Given the description of an element on the screen output the (x, y) to click on. 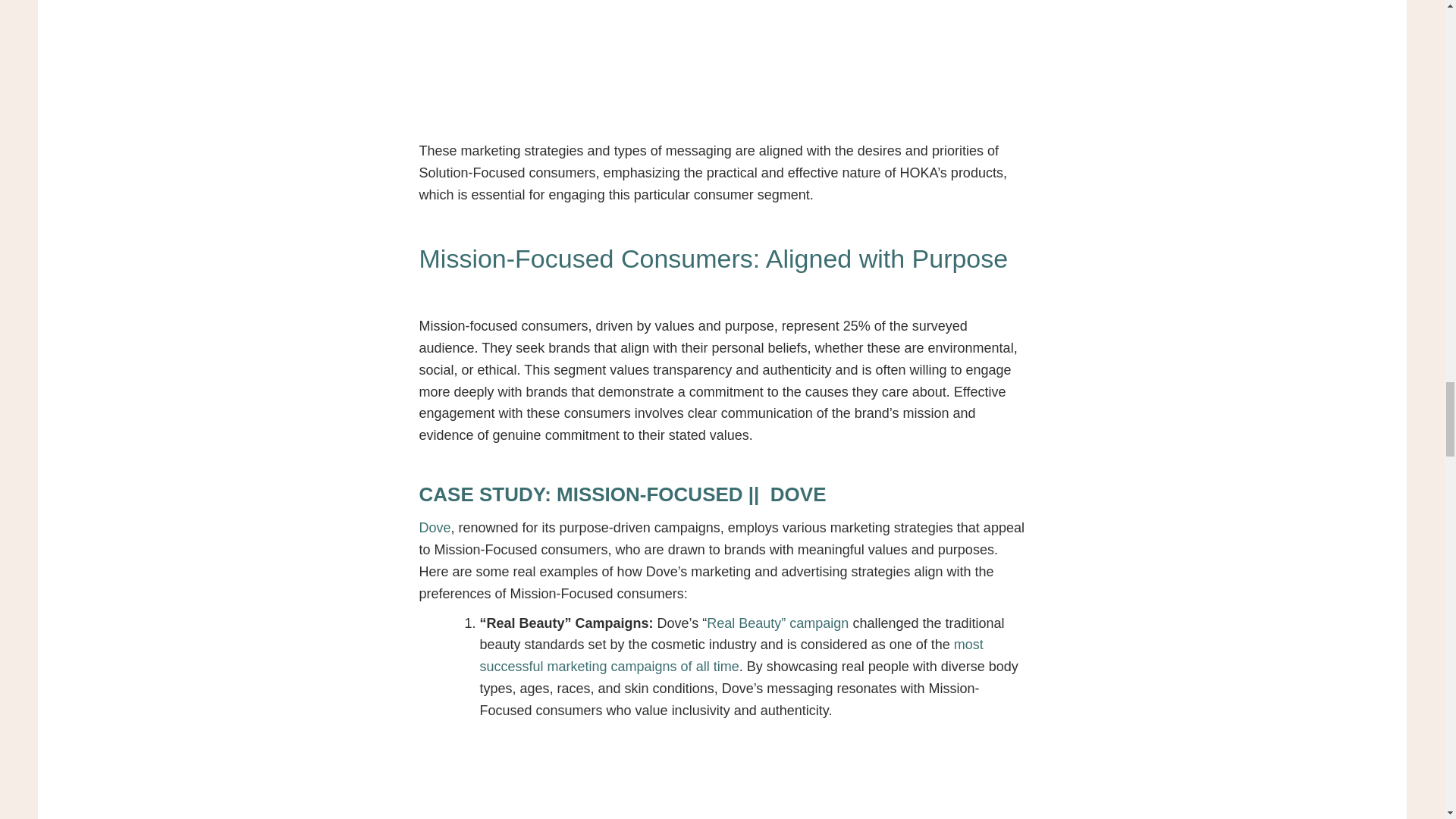
most successful marketing campaigns of all time (730, 655)
Dove (434, 527)
